Given the description of an element on the screen output the (x, y) to click on. 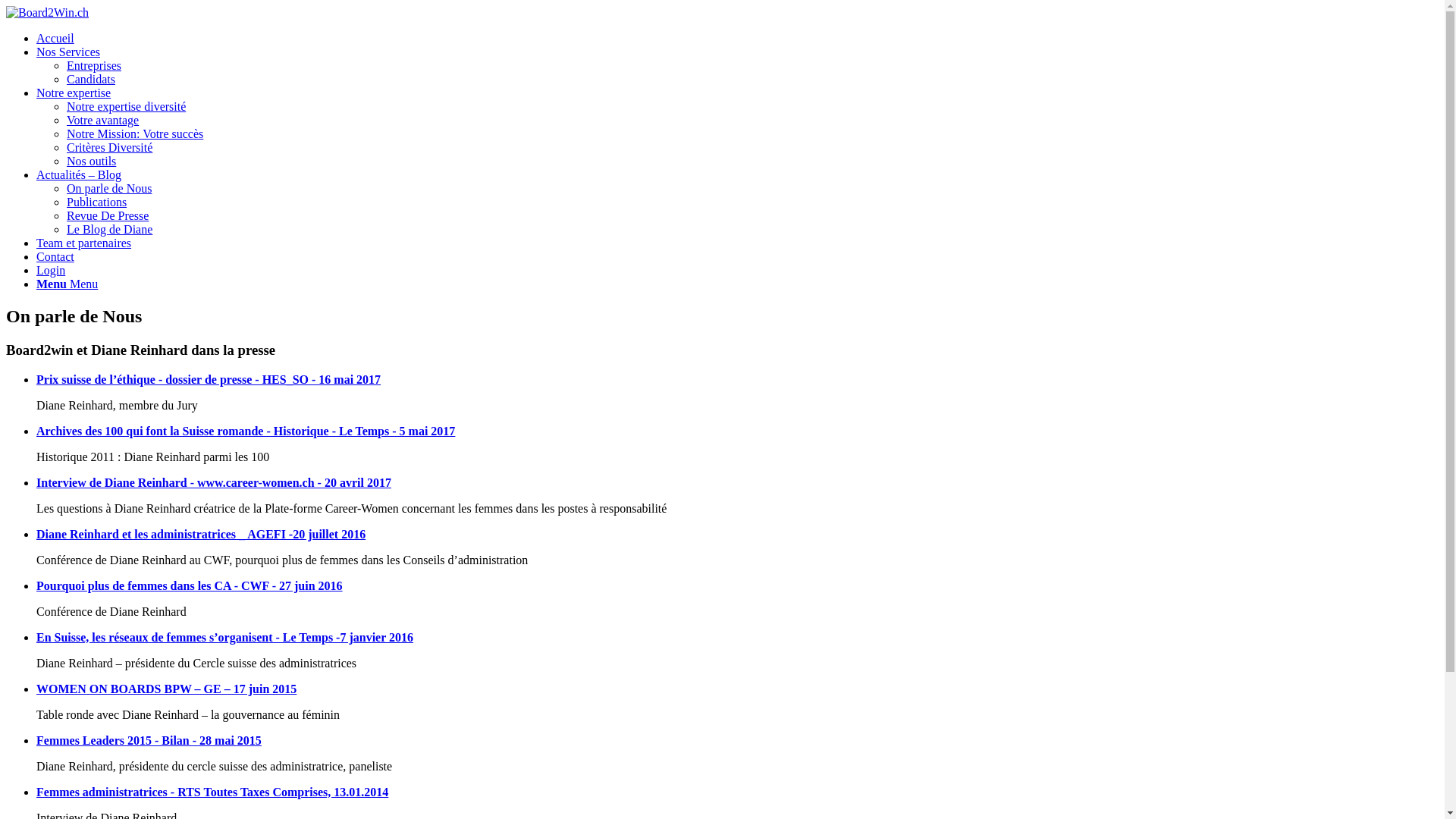
Femmes Leaders 2015 - Bilan - 28 mai 2015 Element type: text (148, 740)
Entreprises Element type: text (93, 65)
Accueil Element type: text (55, 37)
Menu Menu Element type: text (66, 283)
Nos Services Element type: text (68, 51)
Publications Element type: text (96, 201)
Pourquoi plus de femmes dans les CA - CWF - 27 juin 2016 Element type: text (189, 585)
Revue De Presse Element type: text (107, 215)
Nos outils Element type: text (91, 160)
On parle de Nous Element type: text (108, 188)
Contact Element type: text (55, 256)
Candidats Element type: text (90, 78)
Le Blog de Diane Element type: text (109, 228)
Login Element type: text (50, 269)
Notre expertise Element type: text (73, 92)
Team et partenaires Element type: text (83, 242)
Votre avantage Element type: text (102, 119)
